Given the description of an element on the screen output the (x, y) to click on. 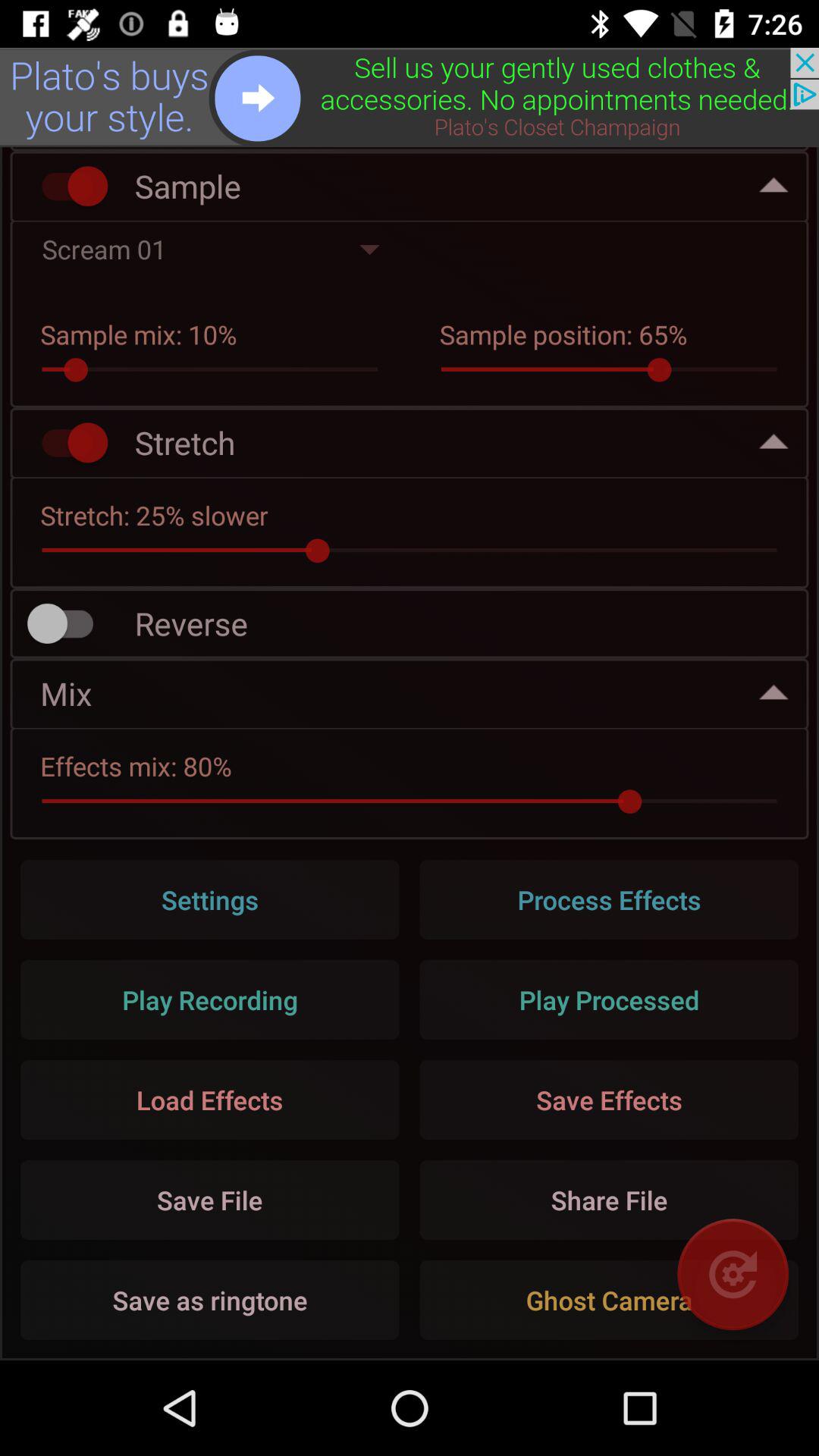
go to advertisement (409, 97)
